Given the description of an element on the screen output the (x, y) to click on. 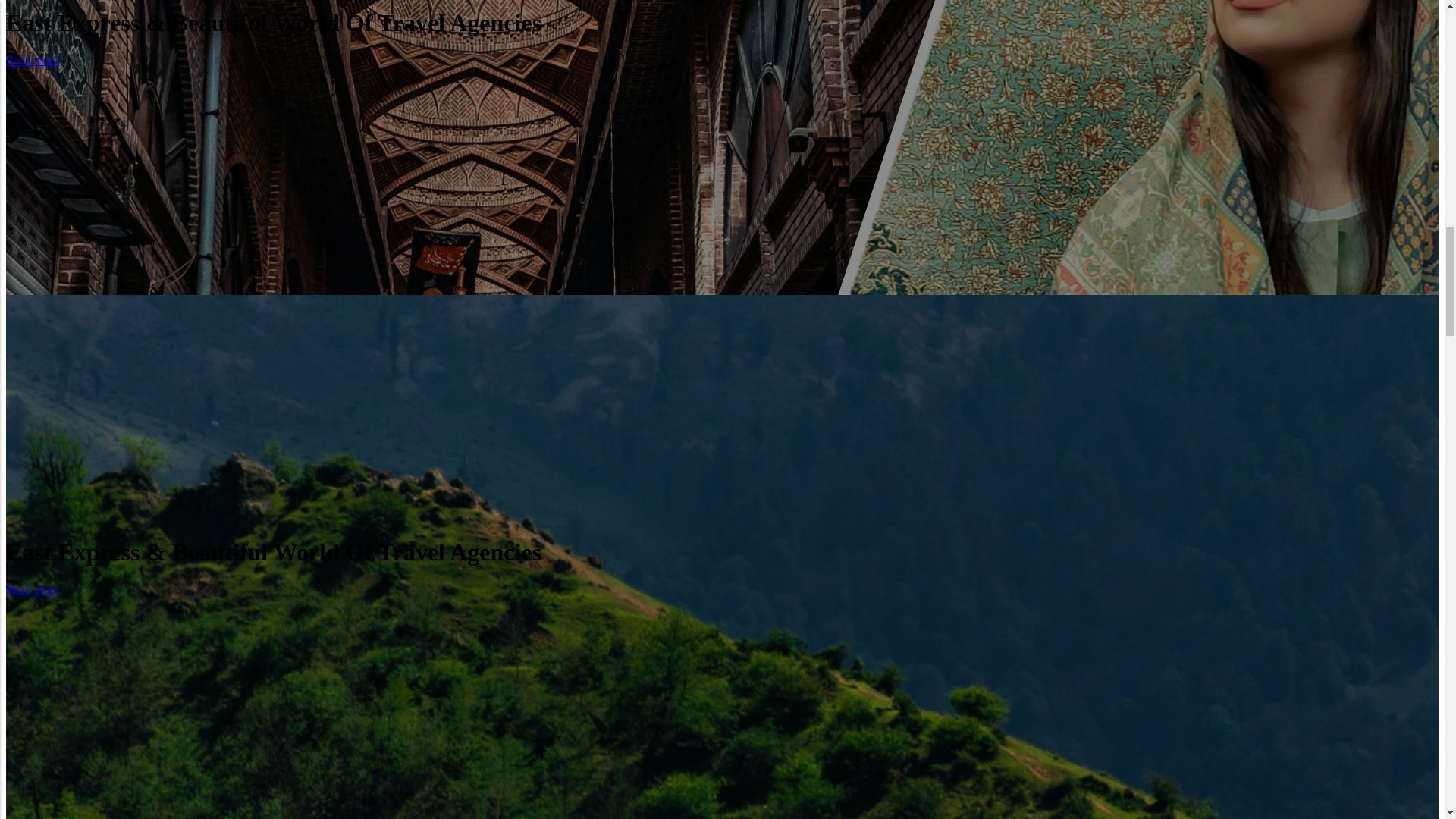
Read more (32, 60)
Read more (32, 589)
